Given the description of an element on the screen output the (x, y) to click on. 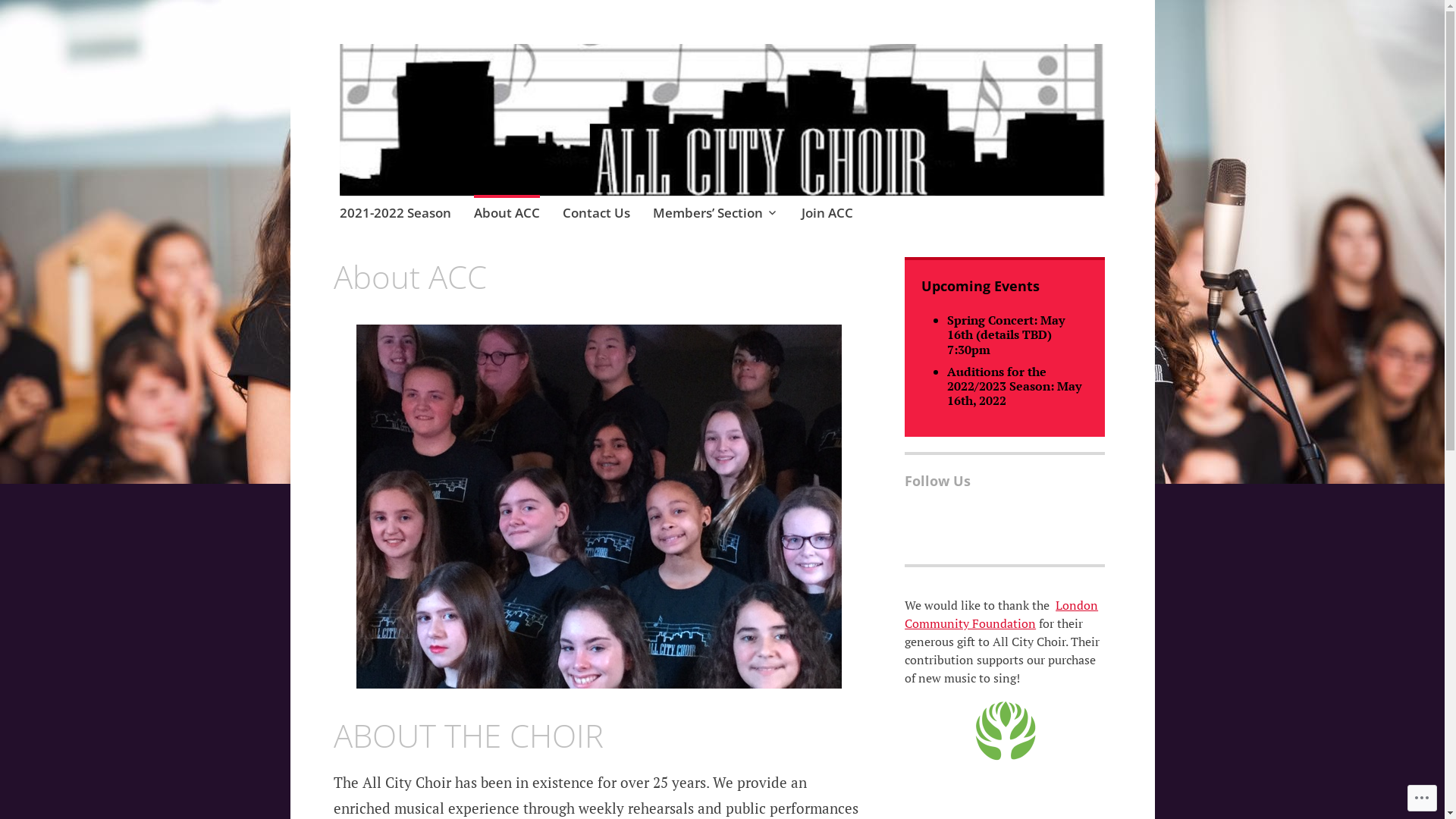
London Community Foundation Element type: text (1001, 613)
2021-2022 Season Element type: text (395, 214)
Contact Us Element type: text (596, 214)
Join ACC Element type: text (827, 214)
All City Choir Element type: text (465, 100)
About ACC Element type: text (506, 214)
